Given the description of an element on the screen output the (x, y) to click on. 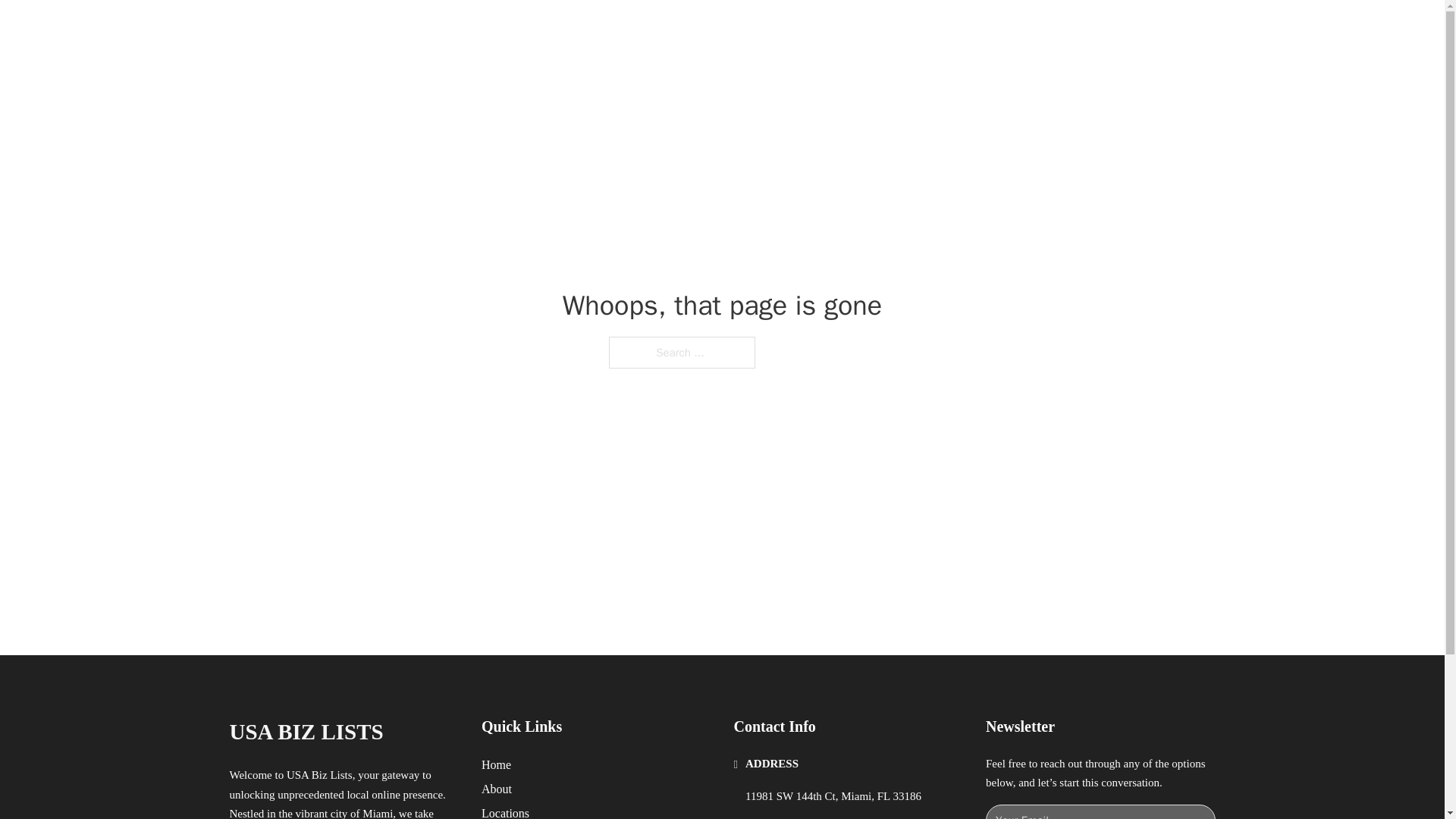
Locations (505, 811)
USA BIZ LISTS (305, 732)
HOME (919, 29)
LOCATIONS (990, 29)
USA BIZ LISTS (384, 28)
About (496, 788)
Home (496, 764)
